Given the description of an element on the screen output the (x, y) to click on. 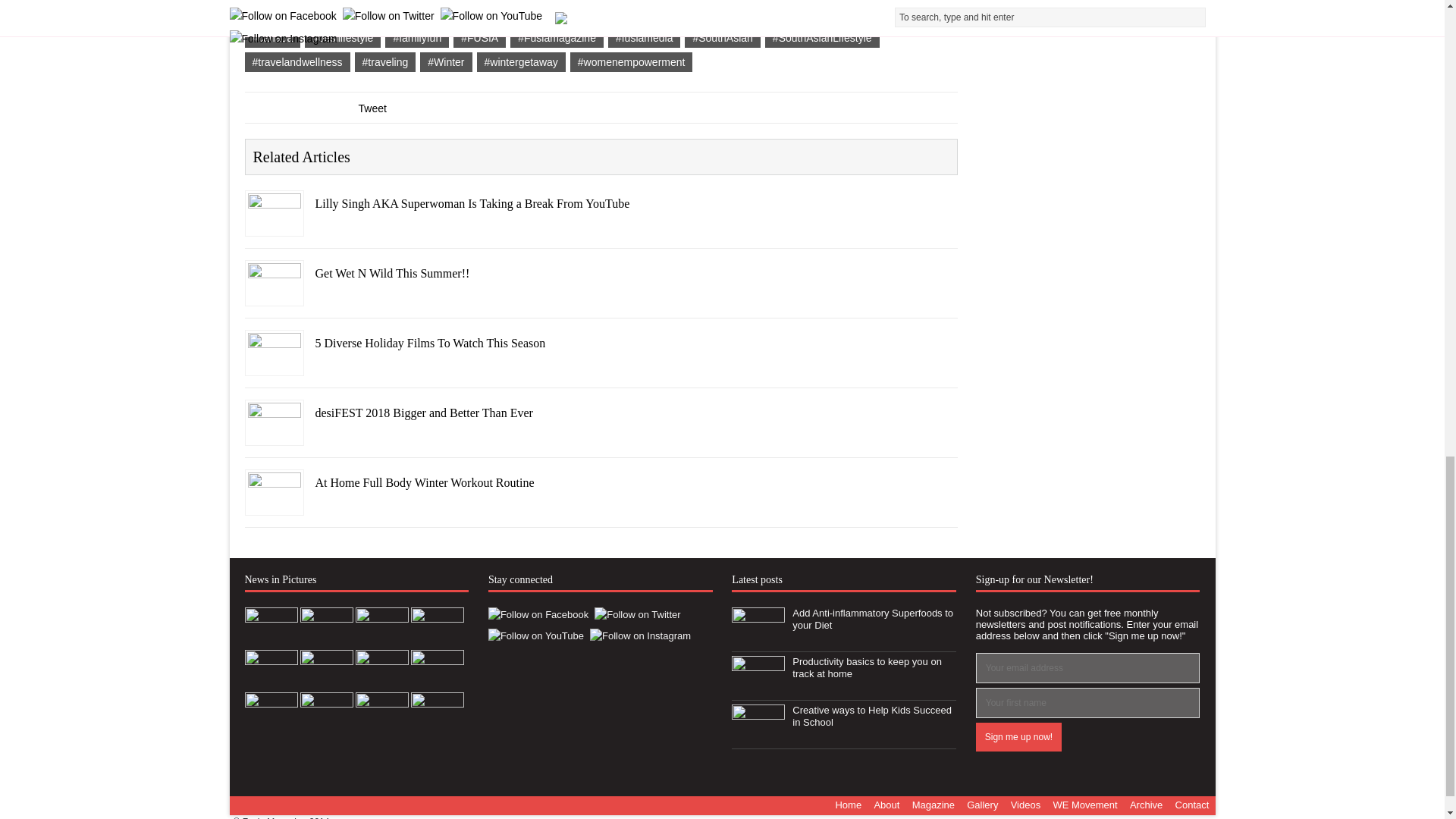
5 Diverse Holiday Films To Watch This Season (273, 364)
At Home Full Body Winter Workout Routine (273, 503)
Lilly Singh AKA Superwoman Is Taking a Break From YouTube (273, 224)
NewsCanada (351, 4)
Sign me up now! (1018, 736)
desiFEST 2018 Bigger and Better Than Ever (273, 434)
Get Wet N Wild This Summer!! (273, 295)
